Given the description of an element on the screen output the (x, y) to click on. 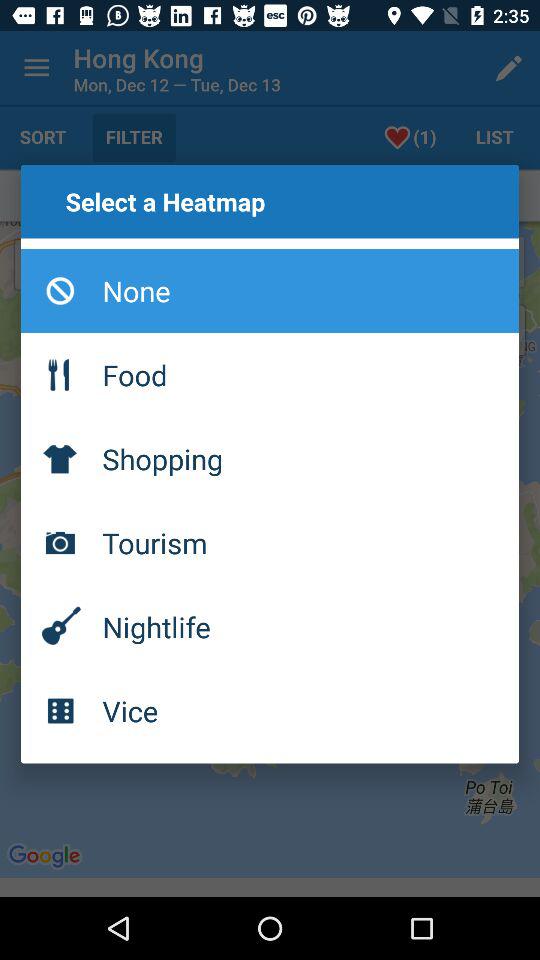
choose the tourism icon (270, 543)
